Given the description of an element on the screen output the (x, y) to click on. 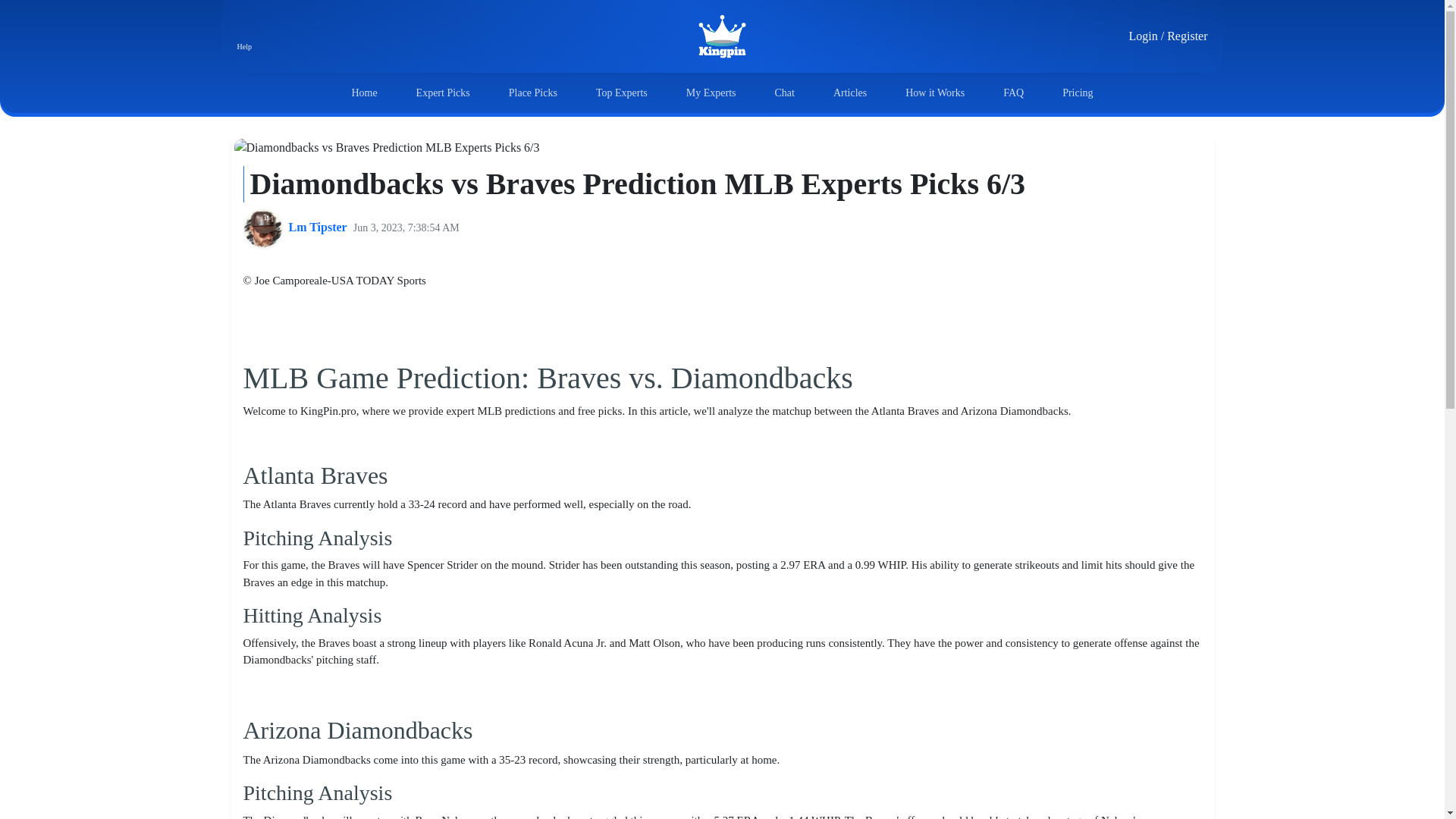
FAQ (1013, 92)
Expert Picks (443, 92)
Place Picks (532, 92)
Articles (849, 92)
Home (363, 92)
Pricing (1078, 92)
How it Works (935, 92)
Top Experts (621, 92)
Chat (783, 92)
Lm Tipster (317, 227)
My Experts (710, 92)
